Given the description of an element on the screen output the (x, y) to click on. 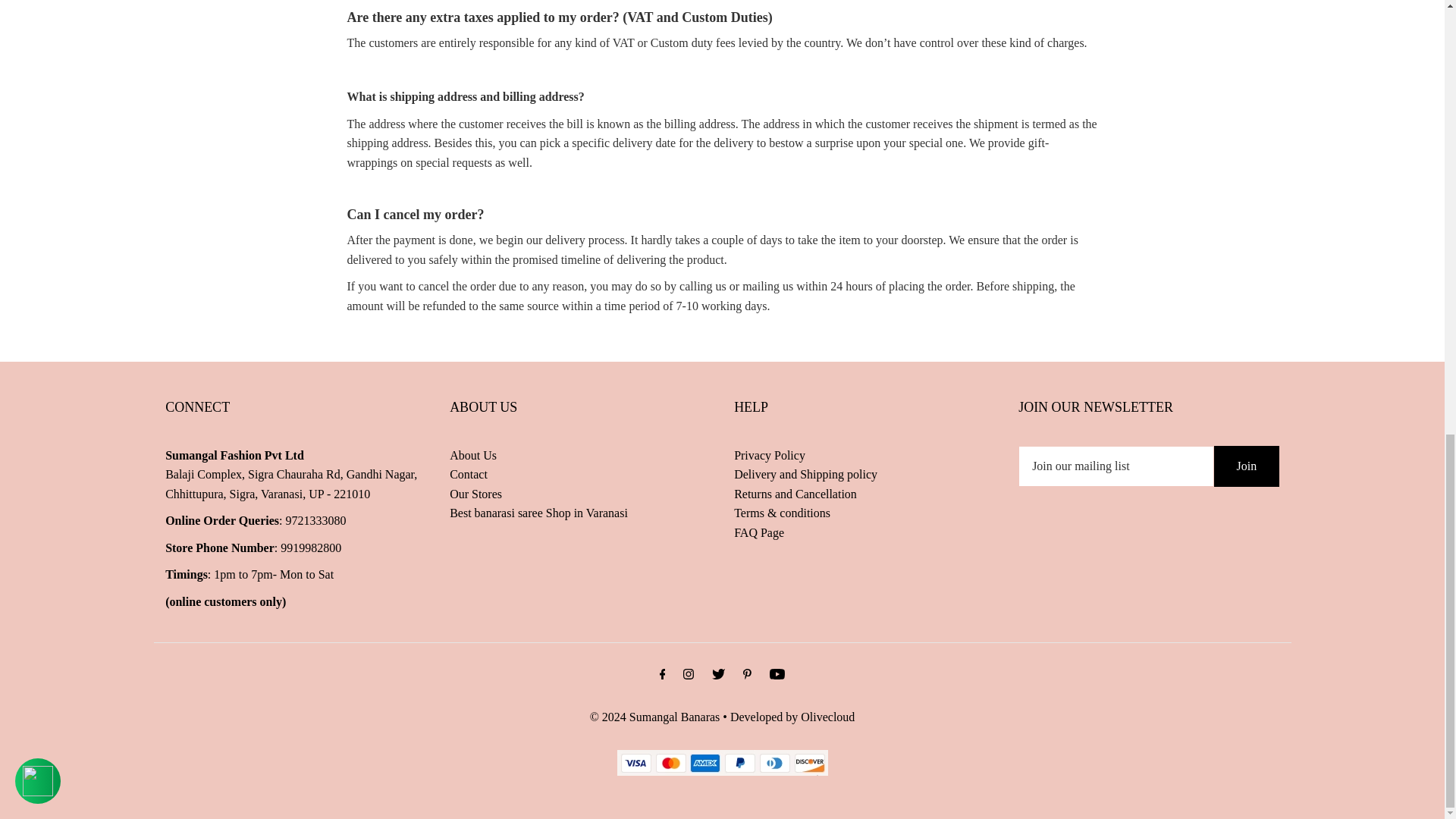
Join (1246, 465)
